Given the description of an element on the screen output the (x, y) to click on. 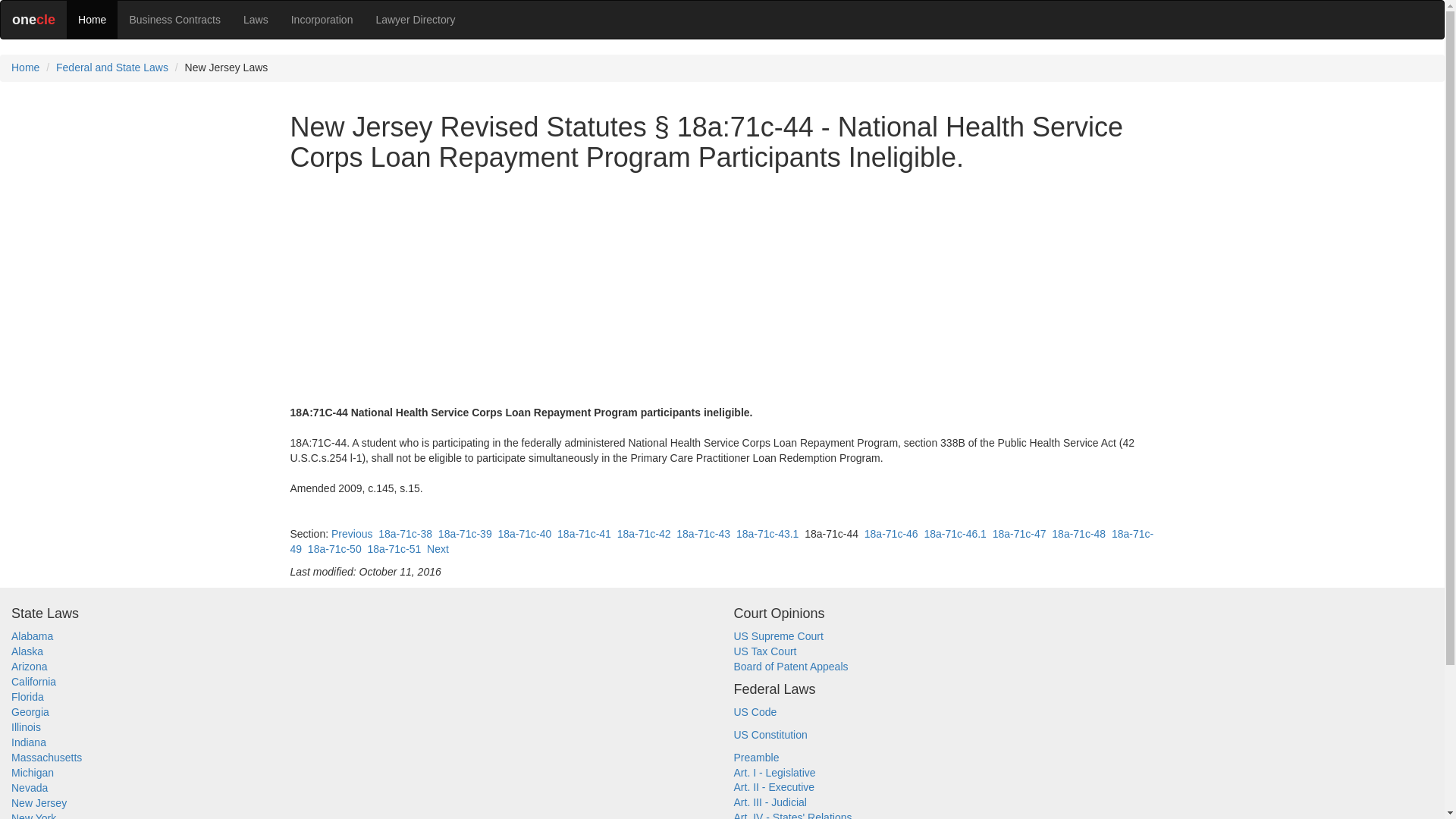
Georgia (30, 711)
18a-71c-38 (405, 533)
Previous (351, 533)
18a-71c-40 (524, 533)
Indiana (28, 742)
18a-71c-42 (644, 533)
Federal and State Laws (112, 67)
California (33, 681)
18a-71c-46 (891, 533)
